Given the description of an element on the screen output the (x, y) to click on. 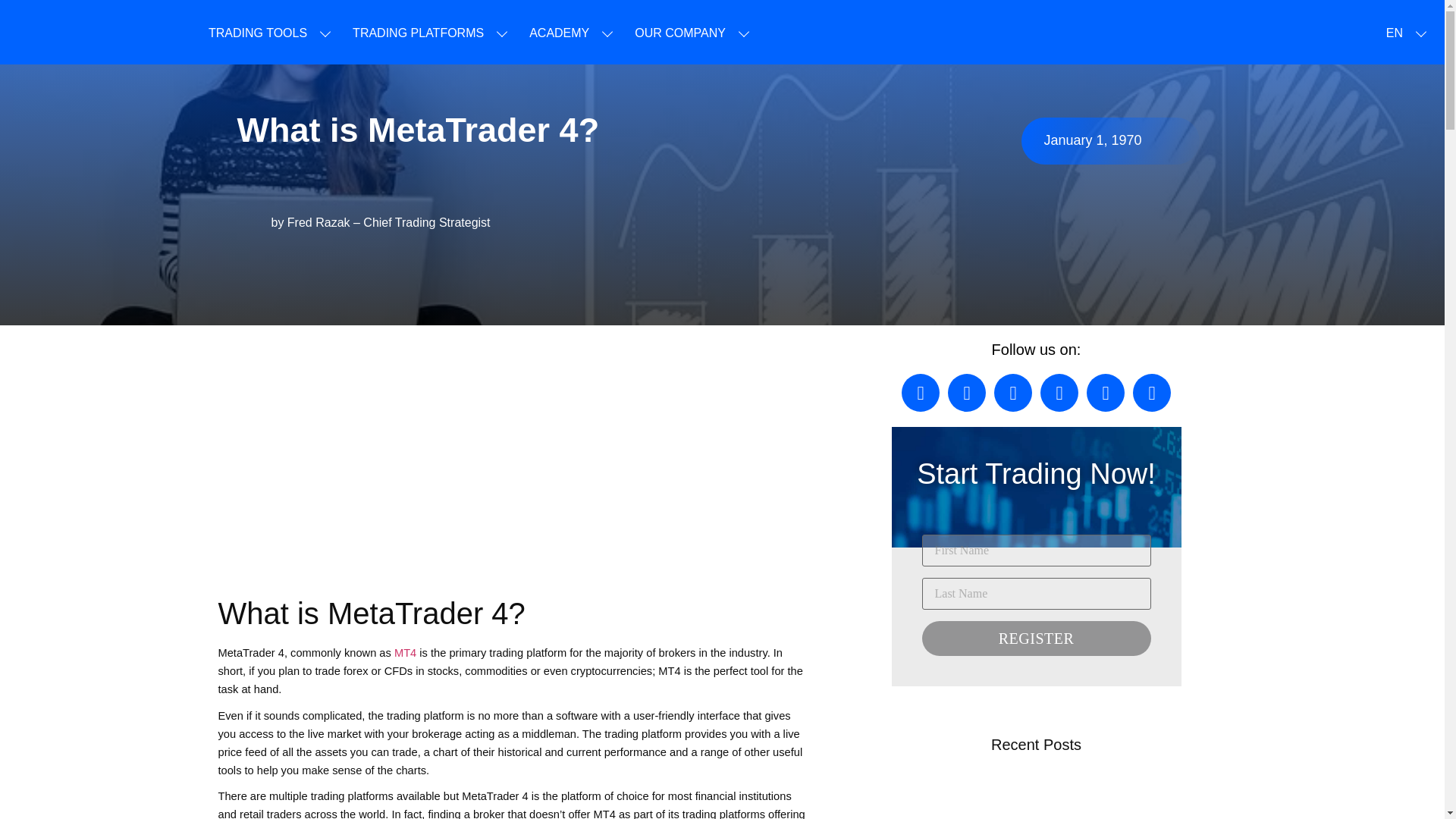
TRADING TOOLS (257, 33)
ACADEMY (559, 33)
OUR COMPANY (679, 33)
TRADING PLATFORMS (417, 33)
